Given the description of an element on the screen output the (x, y) to click on. 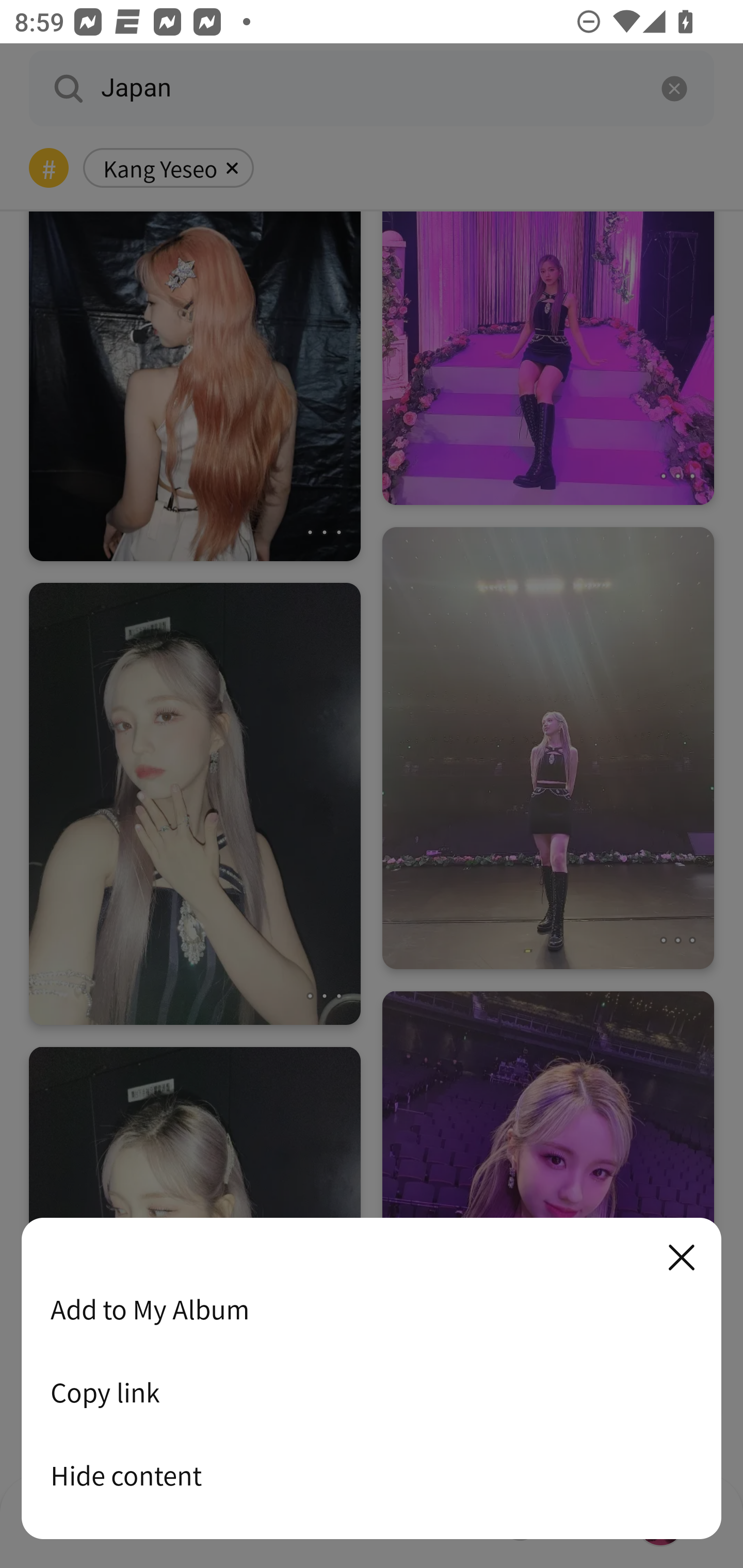
Add to My Album Copy link Hide content (371, 1378)
Add to My Album (371, 1308)
Copy link (371, 1391)
Hide content (371, 1474)
